Given the description of an element on the screen output the (x, y) to click on. 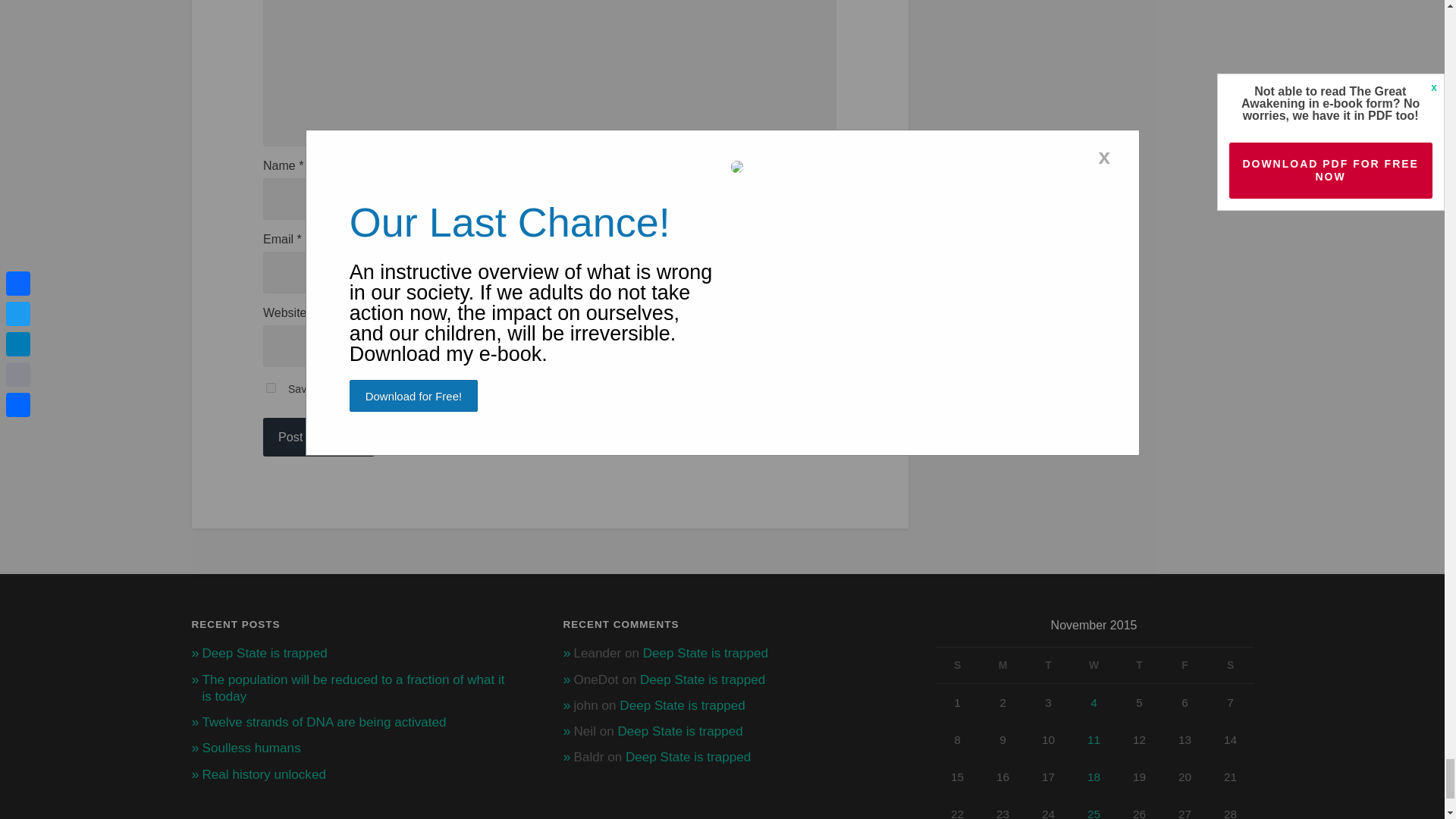
Monday (1002, 665)
Sunday (956, 665)
Post Comment (318, 436)
yes (271, 388)
